Given the description of an element on the screen output the (x, y) to click on. 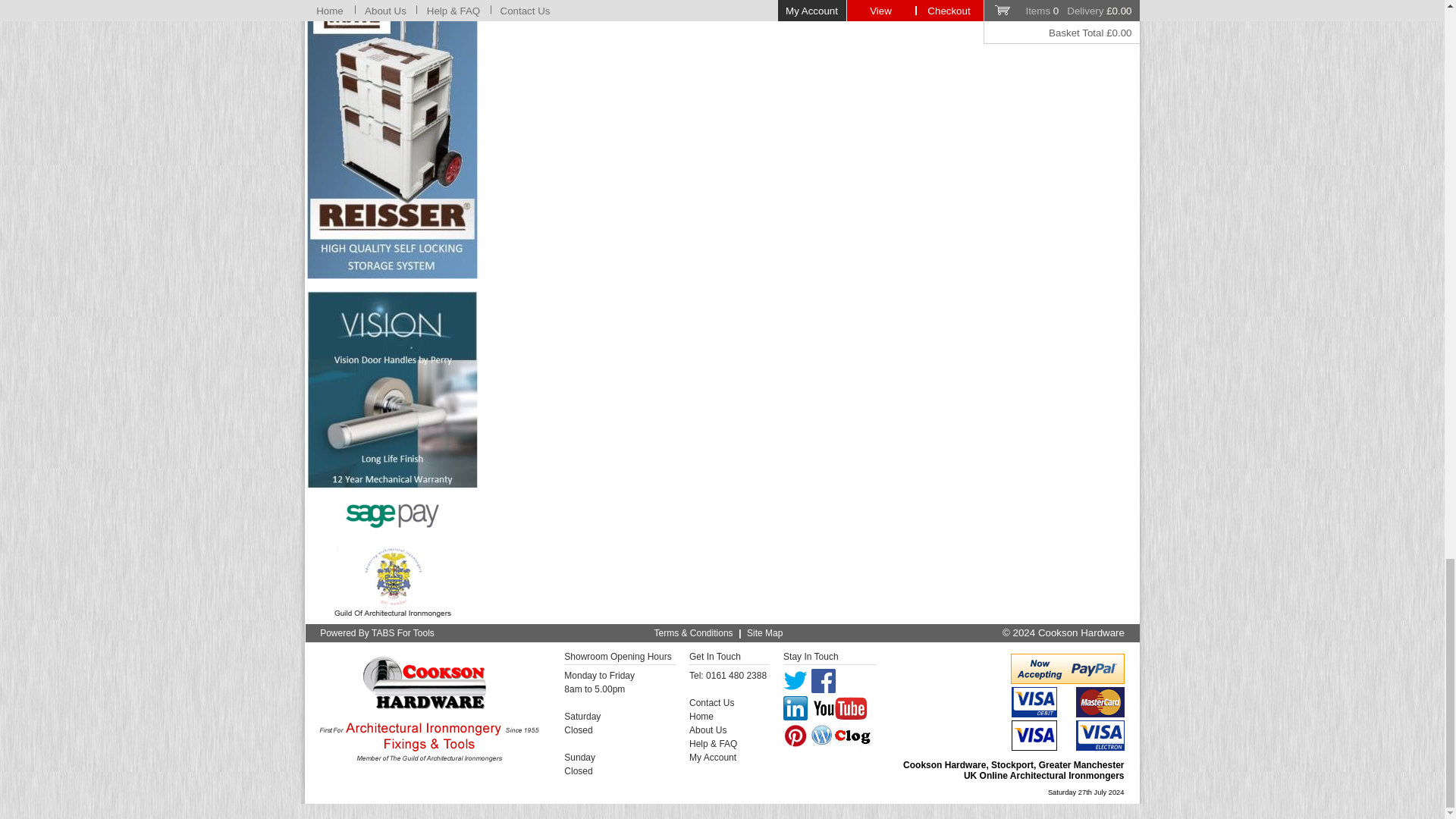
Vision Door Handles by Perry. (392, 389)
Reisser Crate Mate Storage System. (392, 139)
Sagepay (392, 515)
